Given the description of an element on the screen output the (x, y) to click on. 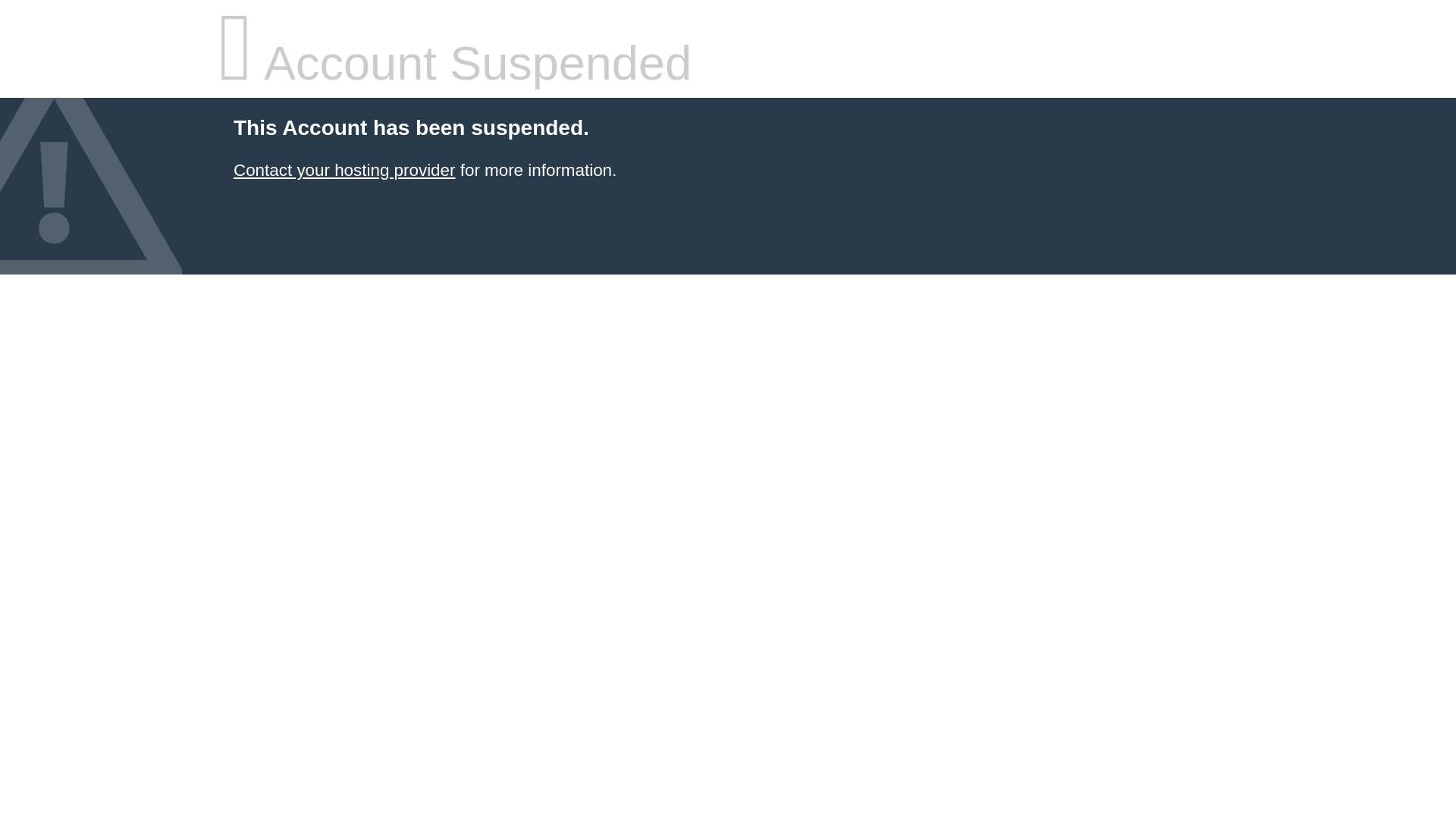
Contact your hosting provider (343, 169)
